Given the description of an element on the screen output the (x, y) to click on. 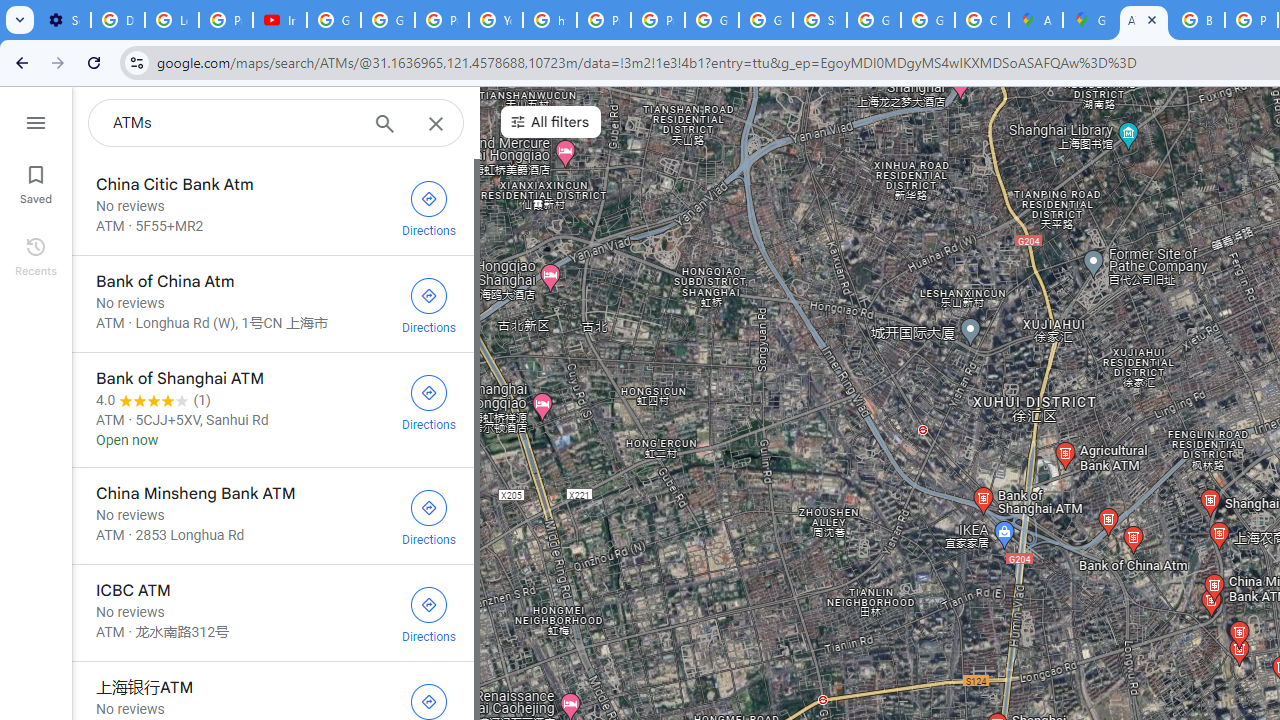
Google Account Help (387, 20)
China Minsheng Bank ATM (272, 515)
Google Maps (1089, 20)
4.0 stars 1 Reviews (153, 400)
Privacy Help Center - Policies Help (604, 20)
Sign in - Google Accounts (819, 20)
Create your Google Account (981, 20)
Blogger Policies and Guidelines - Transparency Center (1197, 20)
AutomationID: searchboxinput (234, 122)
